Given the description of an element on the screen output the (x, y) to click on. 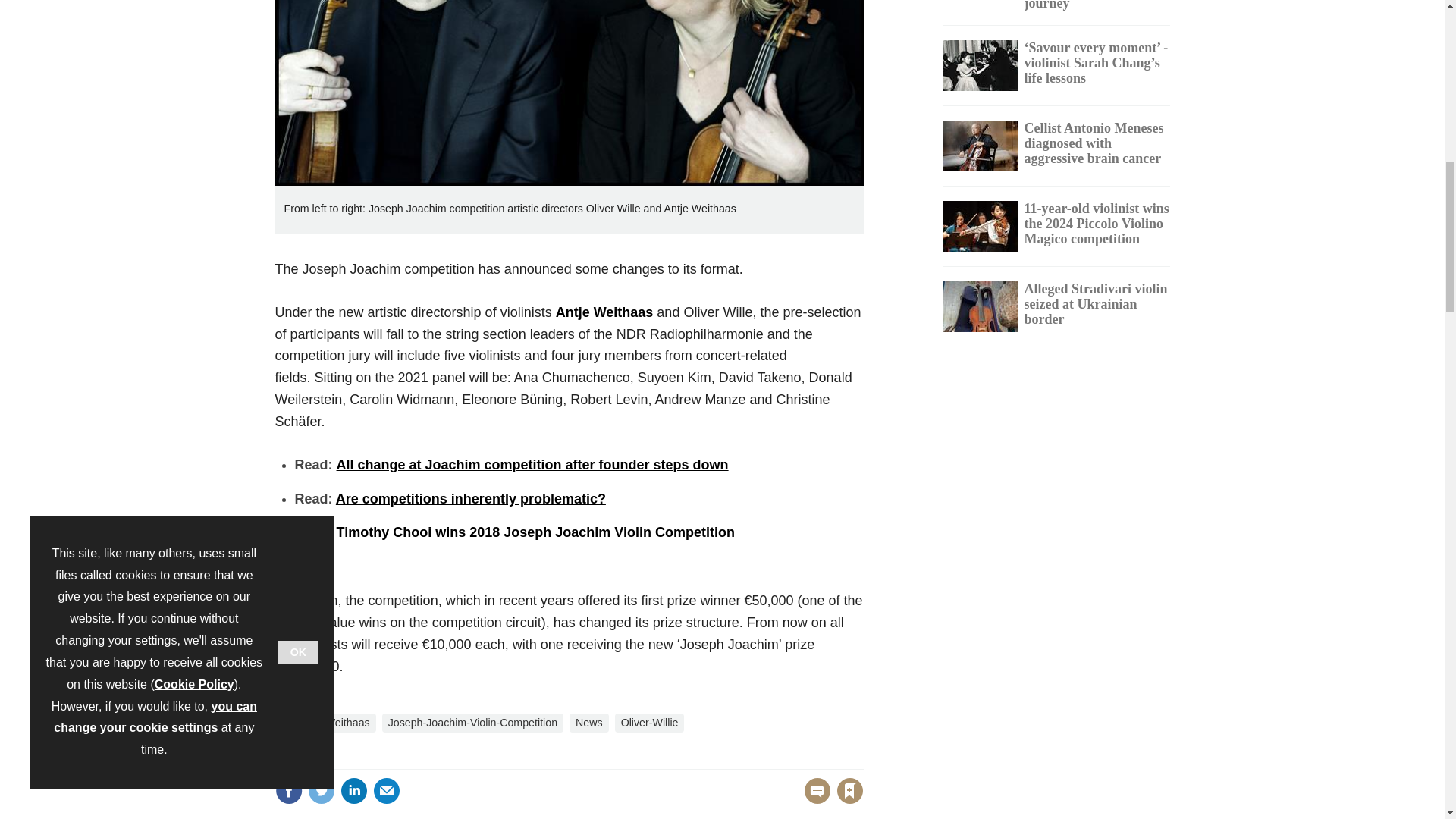
Share this on Twitter (320, 790)
Email this article (386, 790)
No comments (812, 799)
Share this on Facebook (288, 790)
Share this on Linked in (352, 790)
